Given the description of an element on the screen output the (x, y) to click on. 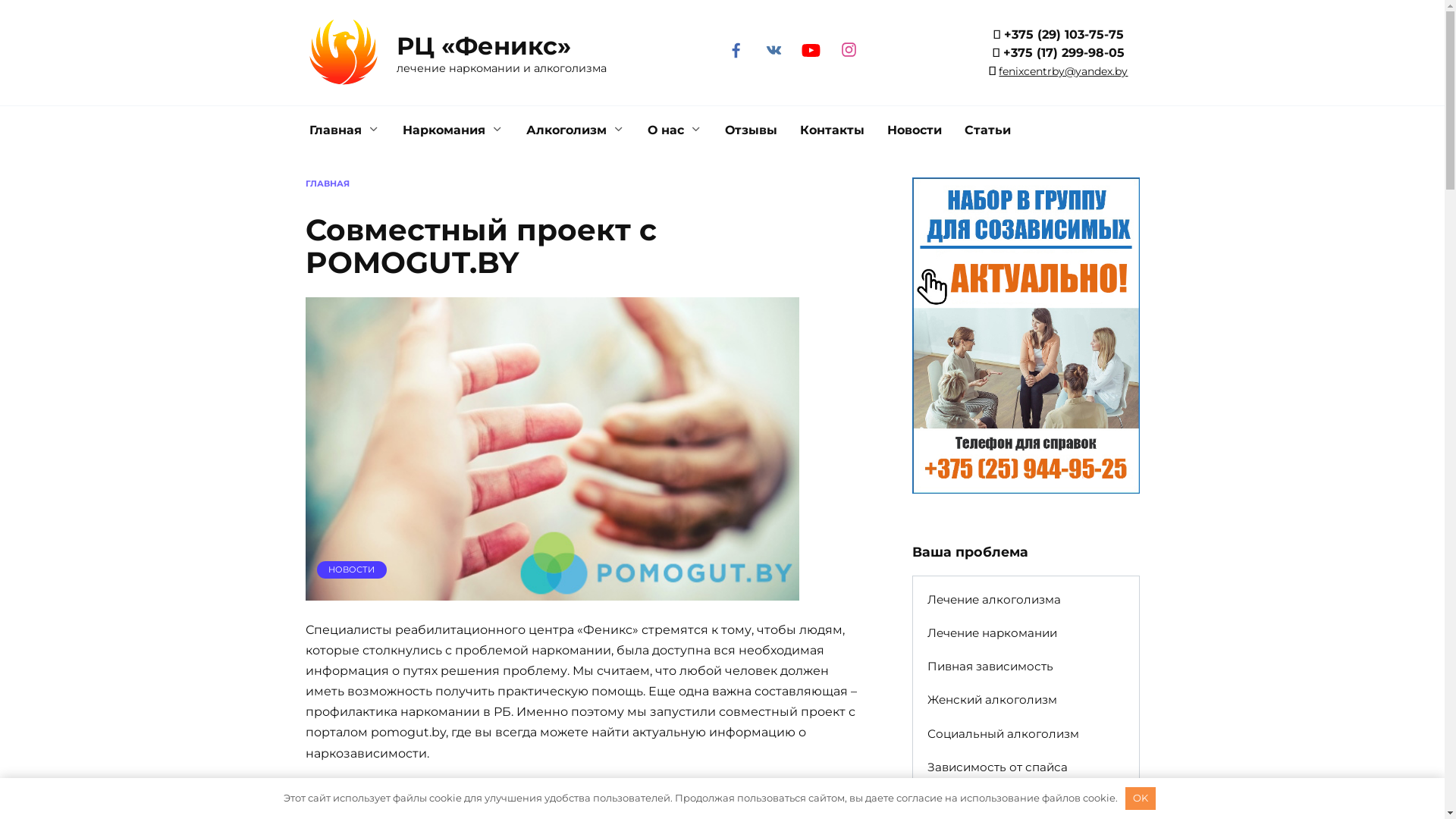
OK Element type: text (1140, 798)
+375 (17) 299-98-05 Element type: text (1063, 52)
fenixcentrby@yandex.by Element type: text (1062, 71)
+375 (29) 103-75-75 Element type: text (1063, 34)
